Given the description of an element on the screen output the (x, y) to click on. 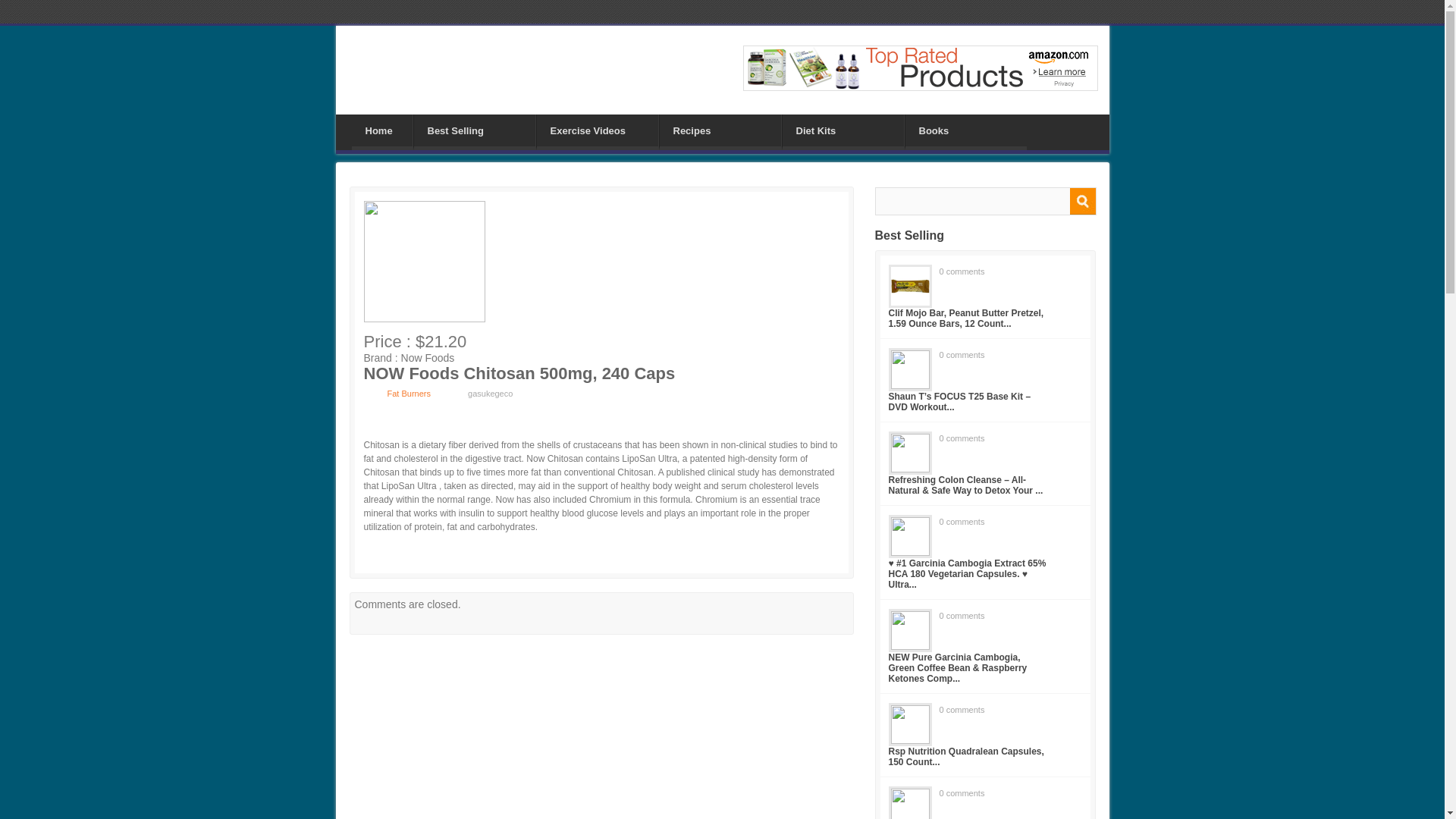
Home (382, 130)
Search (1081, 201)
0 comments (961, 438)
Search (1081, 201)
0 comments (961, 709)
Books (965, 130)
0 comments (961, 271)
Exercise Videos (597, 130)
Rsp Nutrition Quadralean Capsules, 150 Count... (965, 756)
0 comments (961, 354)
Best Selling (474, 130)
0 comments (961, 614)
Fat Burners (408, 393)
Diet Kits (843, 130)
